Given the description of an element on the screen output the (x, y) to click on. 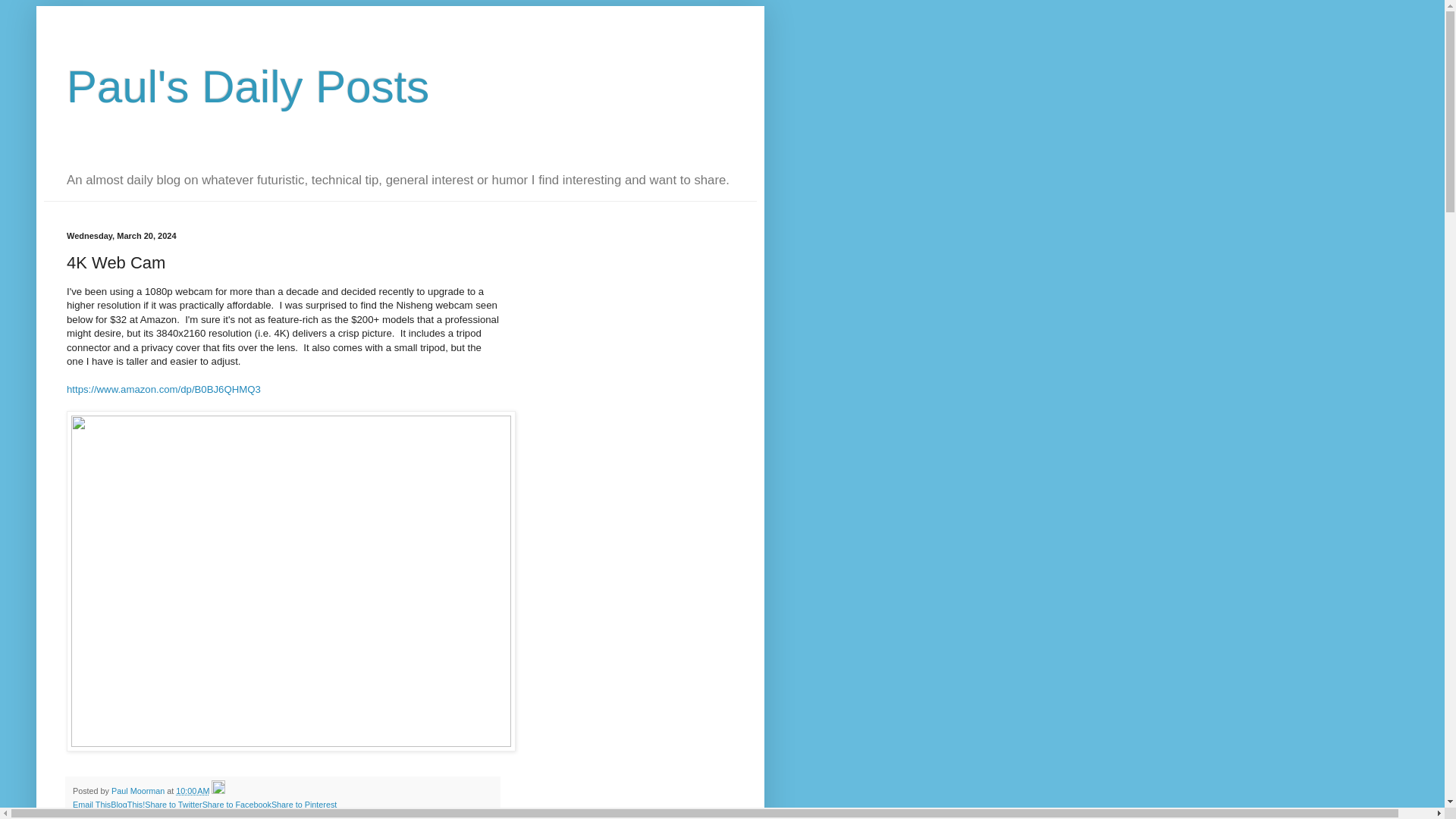
BlogThis! (127, 804)
Share to Twitter (173, 804)
Share to Pinterest (303, 804)
Share to Pinterest (303, 804)
Share to Twitter (173, 804)
Paul's Daily Posts (247, 86)
Email This (91, 804)
permanent link (192, 790)
BlogThis! (127, 804)
Edit Post (218, 790)
Email This (91, 804)
Share to Facebook (236, 804)
Share to Facebook (236, 804)
author profile (139, 790)
